Given the description of an element on the screen output the (x, y) to click on. 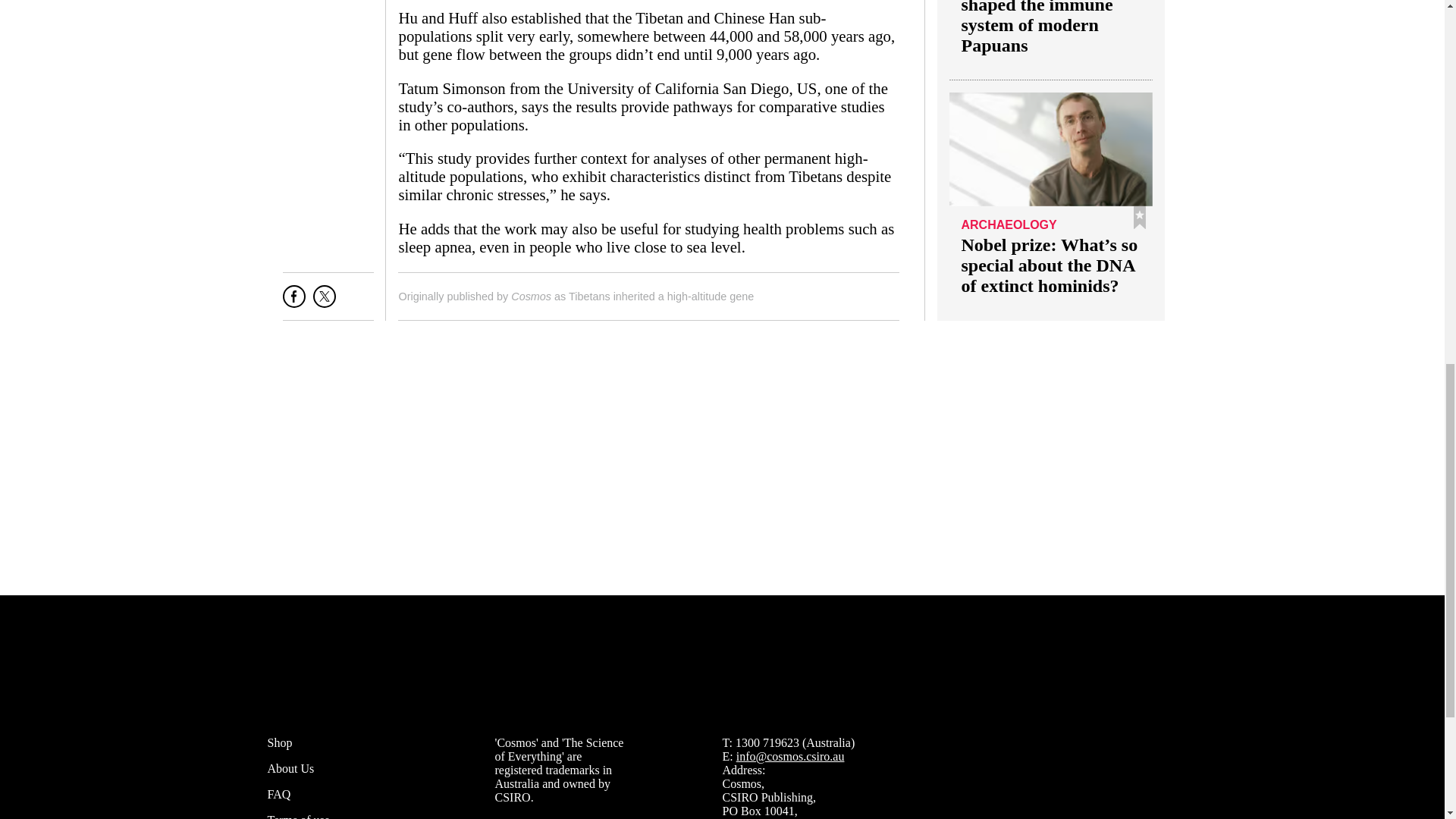
Share on Facebook (293, 302)
Tweet (324, 302)
Tibetans inherited a high-altitude gene (661, 296)
